Given the description of an element on the screen output the (x, y) to click on. 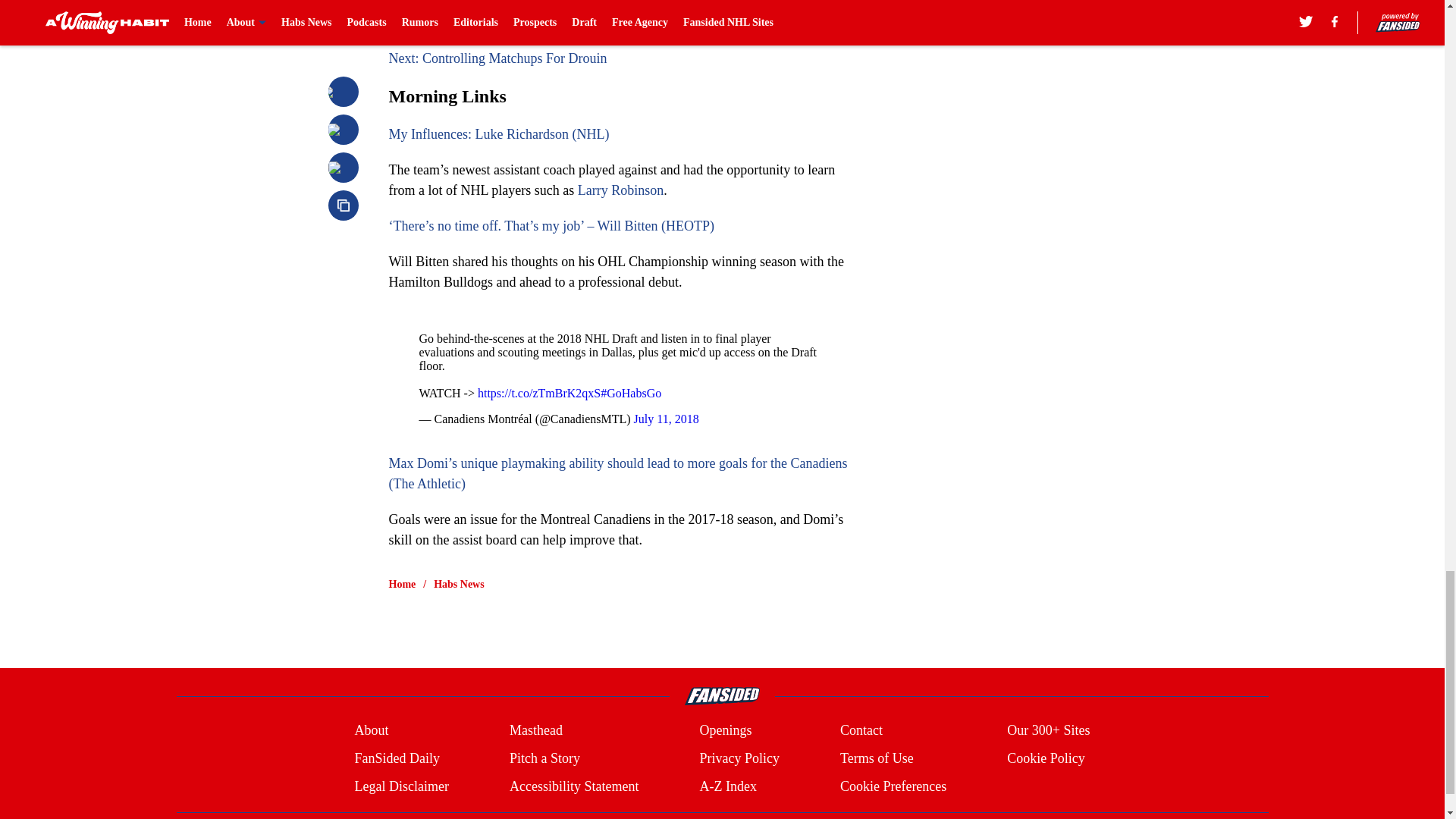
Max Pacioretty (616, 4)
Larry Robinson (620, 190)
July 11, 2018 (665, 418)
Next: Controlling Matchups For Drouin (497, 58)
